Given the description of an element on the screen output the (x, y) to click on. 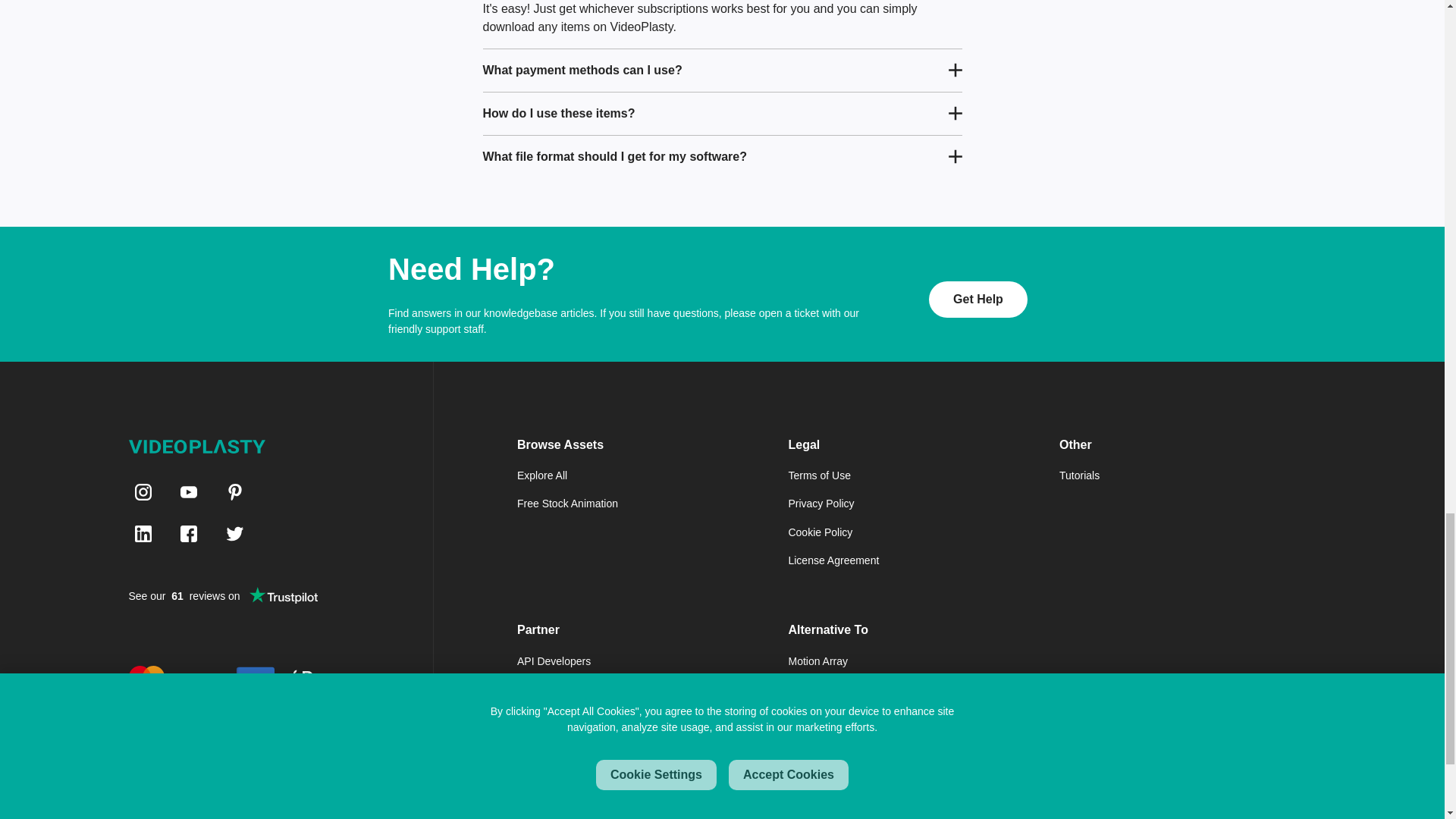
Videoplasty (196, 446)
